Given the description of an element on the screen output the (x, y) to click on. 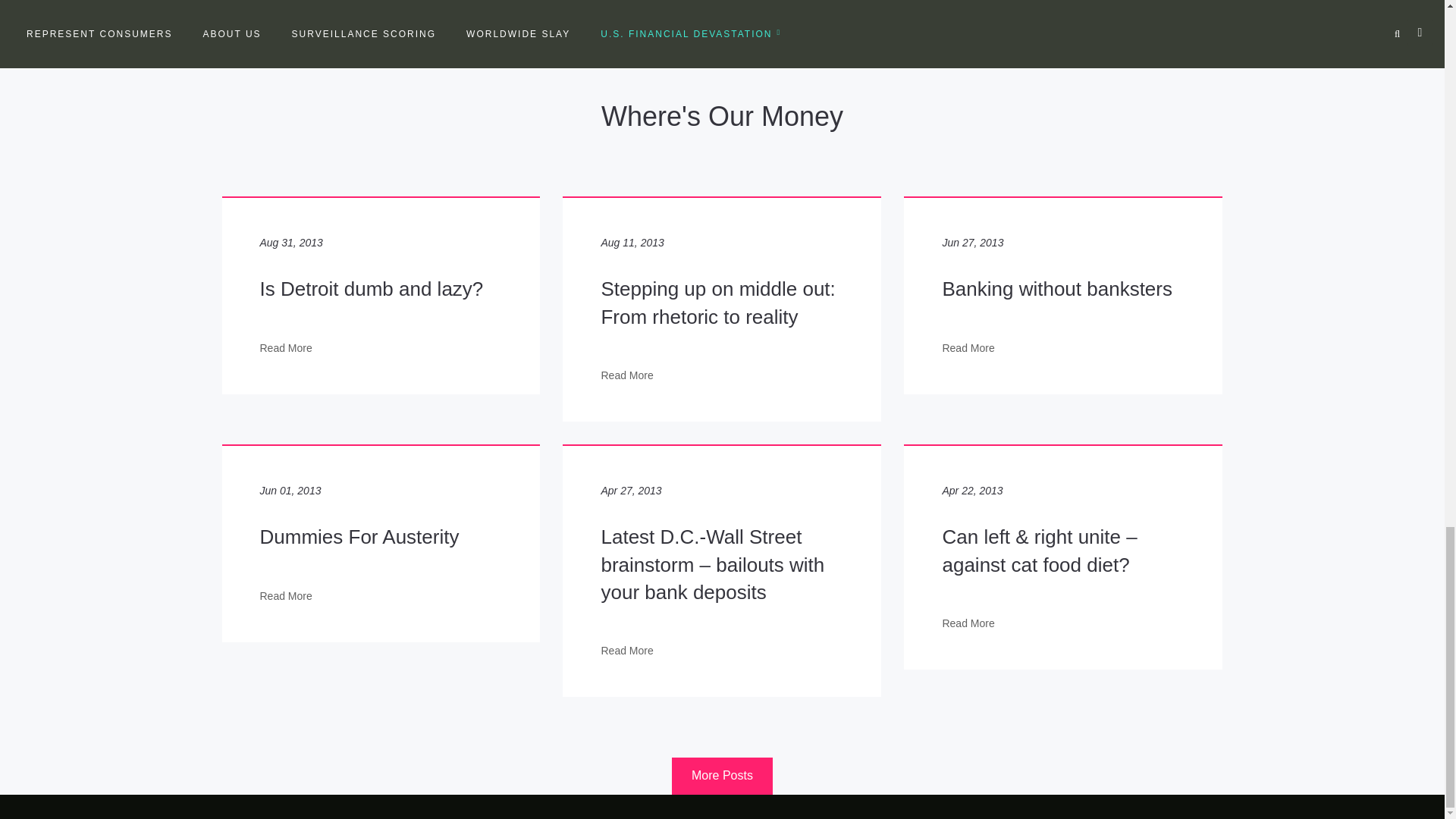
Read More (968, 623)
Is Detroit dumb and lazy? (371, 288)
Read More (968, 348)
Stepping up on middle out: From rhetoric to reality (716, 302)
Read More (625, 651)
Read More (285, 348)
Dummies For Austerity (358, 536)
Read More (625, 376)
Banking without banksters (1057, 288)
Read More (285, 596)
